Given the description of an element on the screen output the (x, y) to click on. 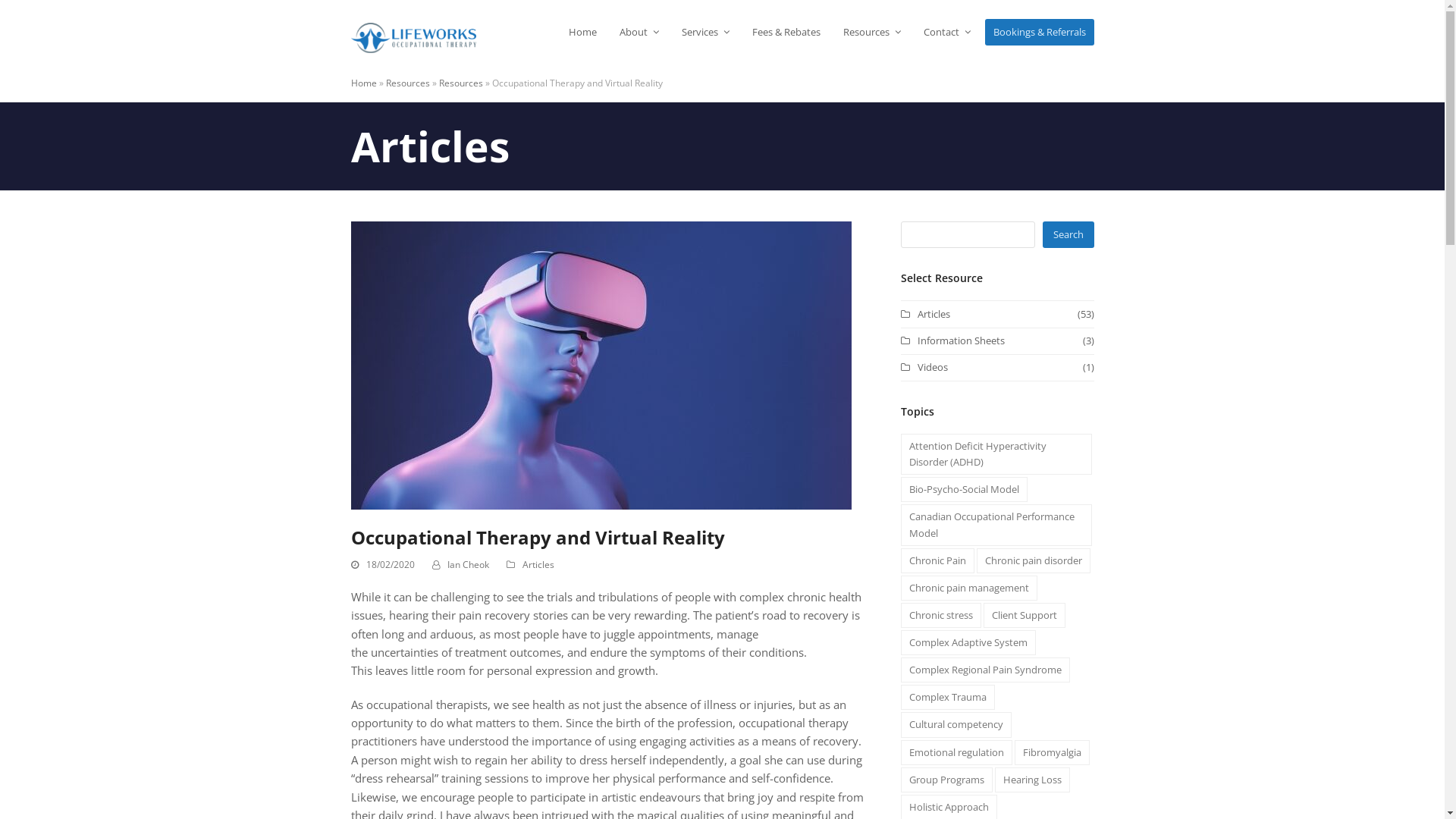
Bookings & Referrals Element type: text (1038, 32)
Client Support Element type: text (1024, 614)
Fibromyalgia Element type: text (1051, 752)
Resources Element type: text (871, 32)
Home Element type: text (581, 32)
Fees & Rebates Element type: text (785, 32)
Group Programs Element type: text (946, 779)
Resources Element type: text (460, 82)
Videos Element type: text (923, 366)
Services Element type: text (705, 32)
Hearing Loss Element type: text (1032, 779)
Complex Regional Pain Syndrome Element type: text (985, 669)
Cultural competency Element type: text (955, 724)
Complex Trauma Element type: text (947, 696)
Chronic pain management Element type: text (968, 587)
Resources Element type: text (407, 82)
Bio-Psycho-Social Model Element type: text (963, 489)
Articles Element type: text (925, 313)
About Element type: text (639, 32)
Chronic Pain Element type: text (937, 560)
Articles Element type: text (537, 564)
Complex Adaptive System Element type: text (967, 642)
Emotional regulation Element type: text (956, 752)
Contact Element type: text (946, 32)
Ian Cheok Element type: text (468, 564)
Attention Deficit Hyperactivity Disorder (ADHD) Element type: text (996, 453)
Home Element type: text (363, 82)
Canadian Occupational Performance Model Element type: text (996, 524)
Chronic pain disorder Element type: text (1033, 560)
Chronic stress Element type: text (940, 614)
Search Element type: text (1067, 234)
Information Sheets Element type: text (952, 340)
